Given the description of an element on the screen output the (x, y) to click on. 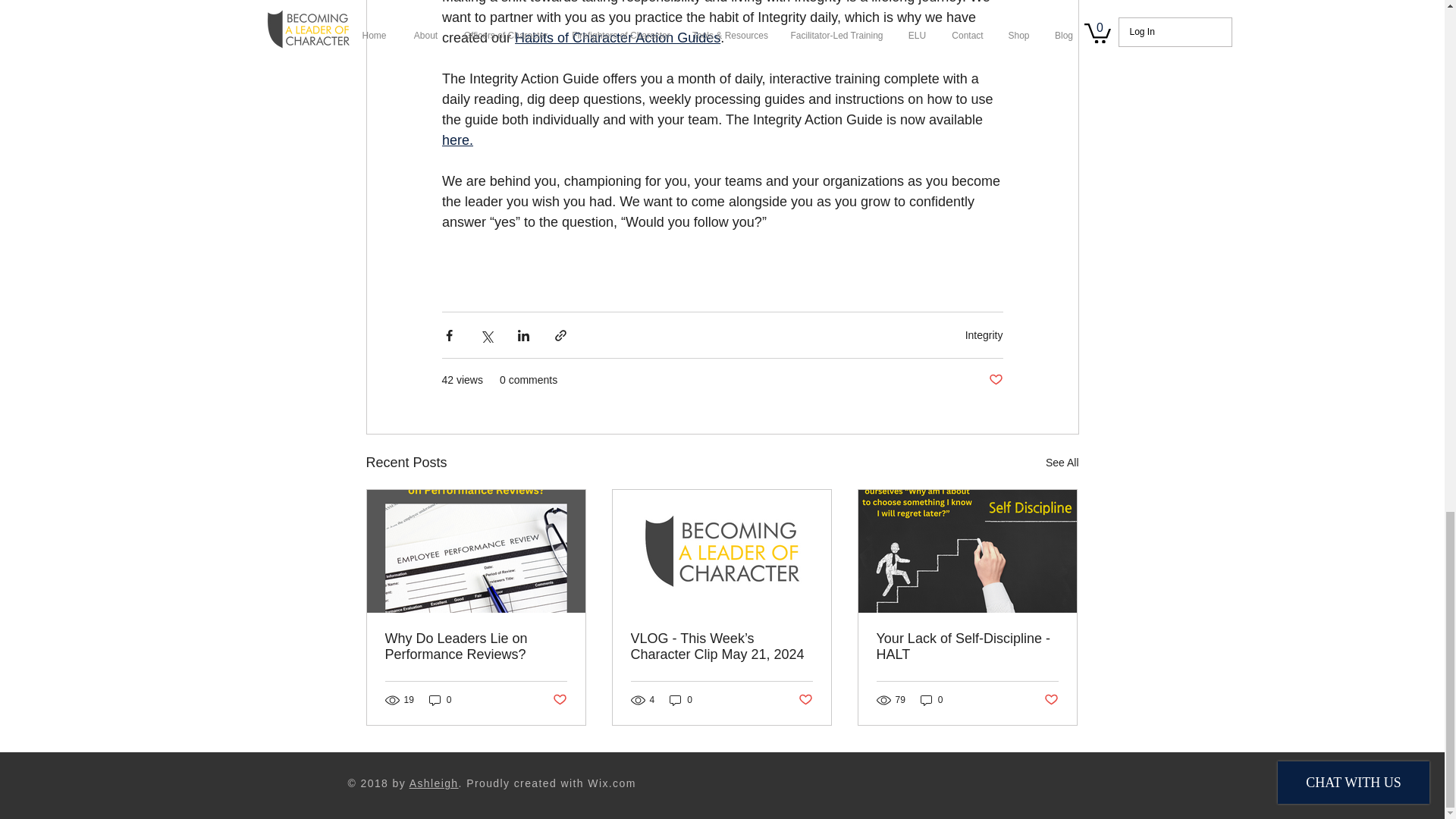
Habits of Character Action Guides (617, 37)
here. (456, 140)
